Given the description of an element on the screen output the (x, y) to click on. 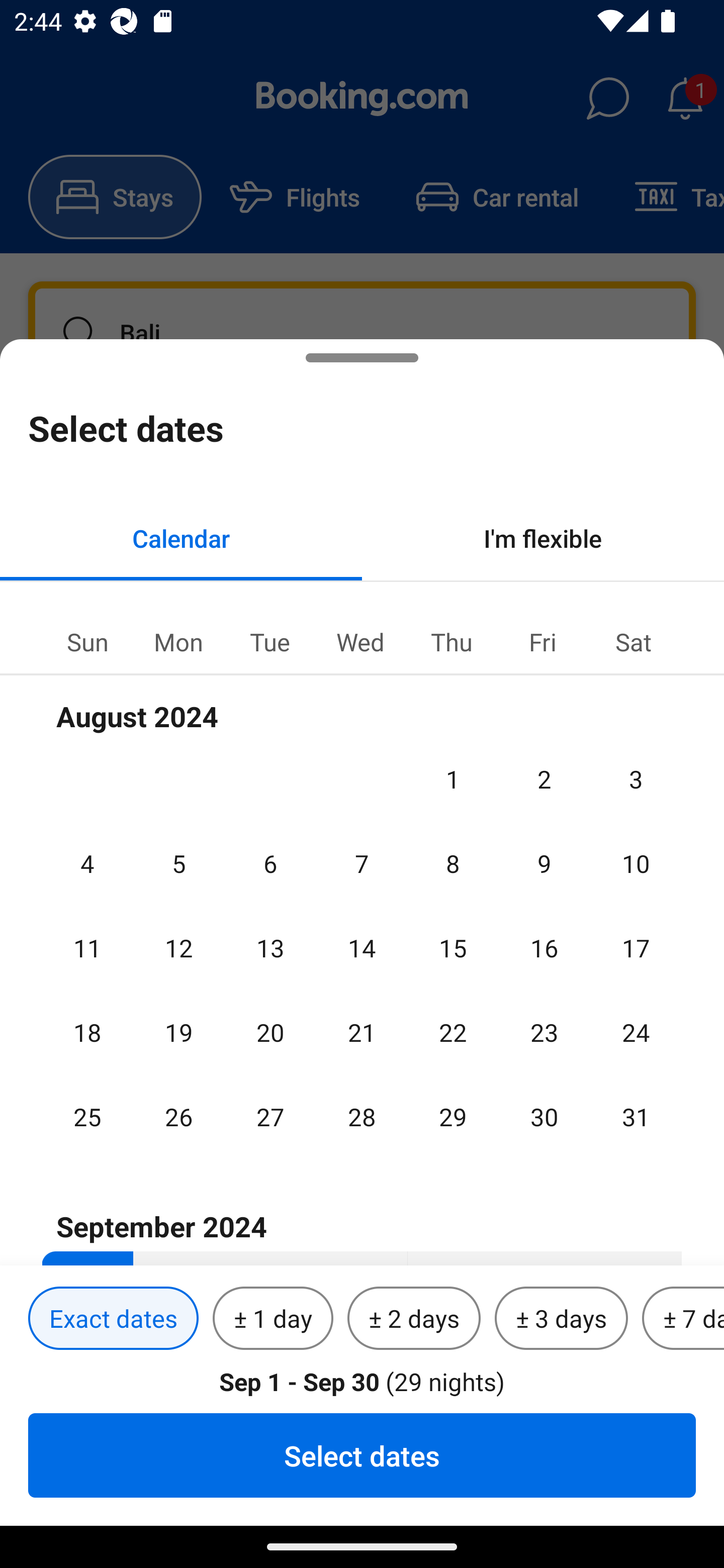
I'm flexible (543, 537)
Exact dates (113, 1318)
± 1 day (272, 1318)
± 2 days (413, 1318)
± 3 days (560, 1318)
± 7 days (683, 1318)
Select dates (361, 1454)
